Given the description of an element on the screen output the (x, y) to click on. 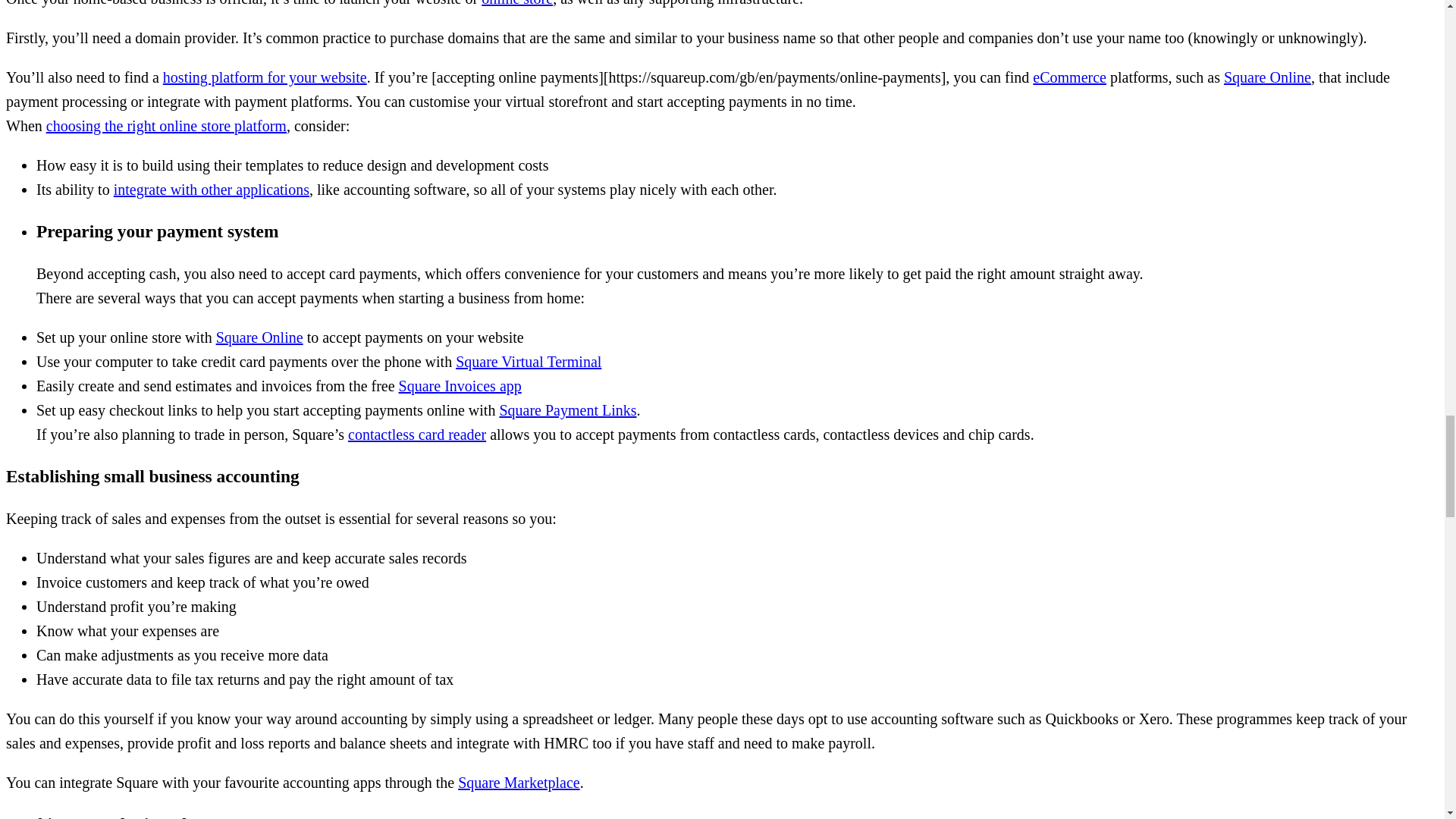
Square Virtual Terminal (528, 361)
hosting platform for your website (264, 76)
online store (517, 3)
integrate with other applications (210, 189)
Square Marketplace (518, 782)
Square Payment Links (567, 410)
eCommerce (1069, 76)
Square Invoices app (459, 385)
contactless card reader (416, 434)
choosing the right online store platform (166, 125)
